Given the description of an element on the screen output the (x, y) to click on. 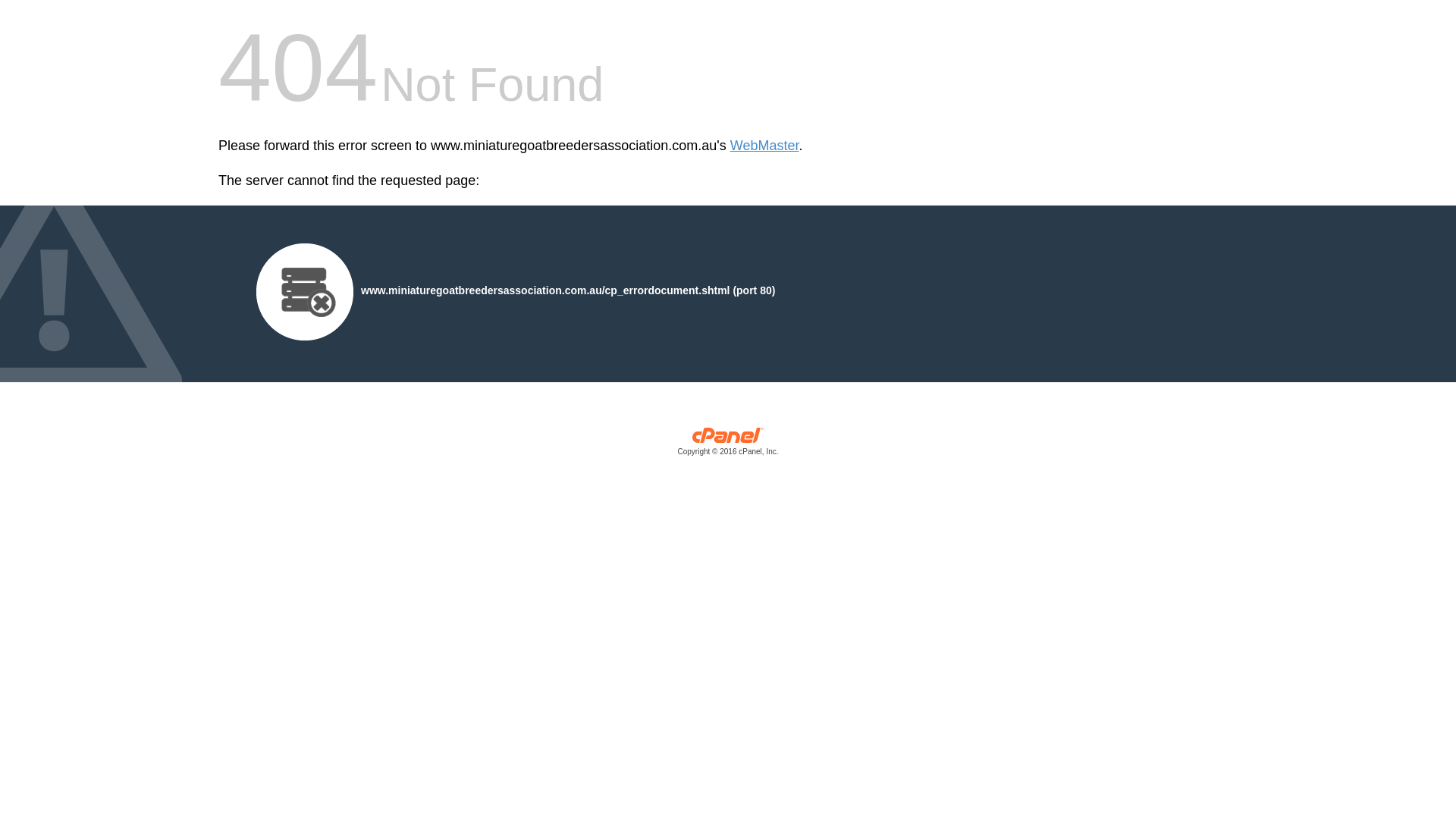
WebMaster Element type: text (764, 145)
